Given the description of an element on the screen output the (x, y) to click on. 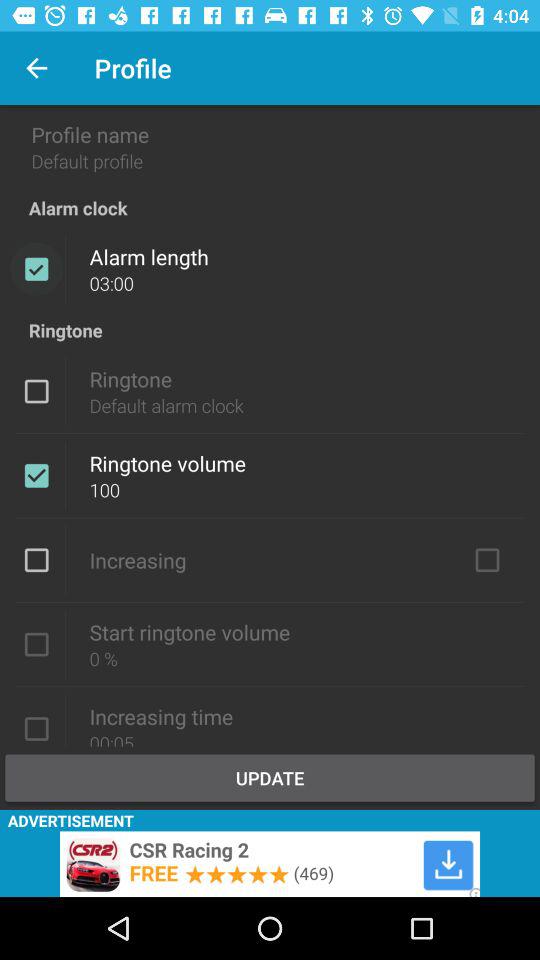
increasing time box (36, 727)
